Given the description of an element on the screen output the (x, y) to click on. 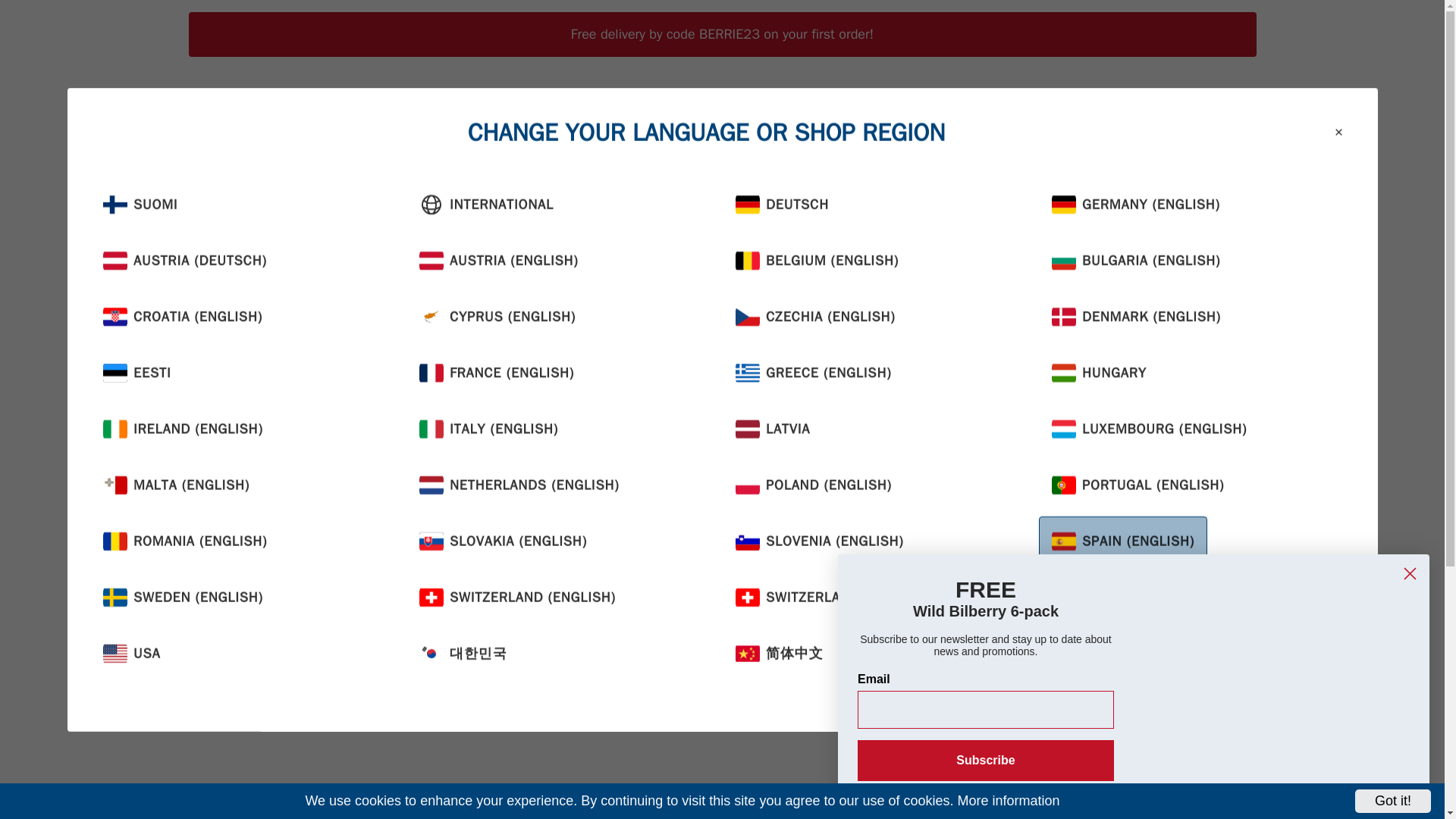
SHOP (361, 105)
Cart (1059, 105)
SEARCH (986, 105)
RECURRING ORDER (821, 105)
Log in (1022, 105)
OUR STORY (926, 105)
MORE ABOUT BERRIES (465, 105)
FOR BUSINESSES (702, 105)
BERRIE PARTNER (590, 105)
Reseptit (862, 177)
